Given the description of an element on the screen output the (x, y) to click on. 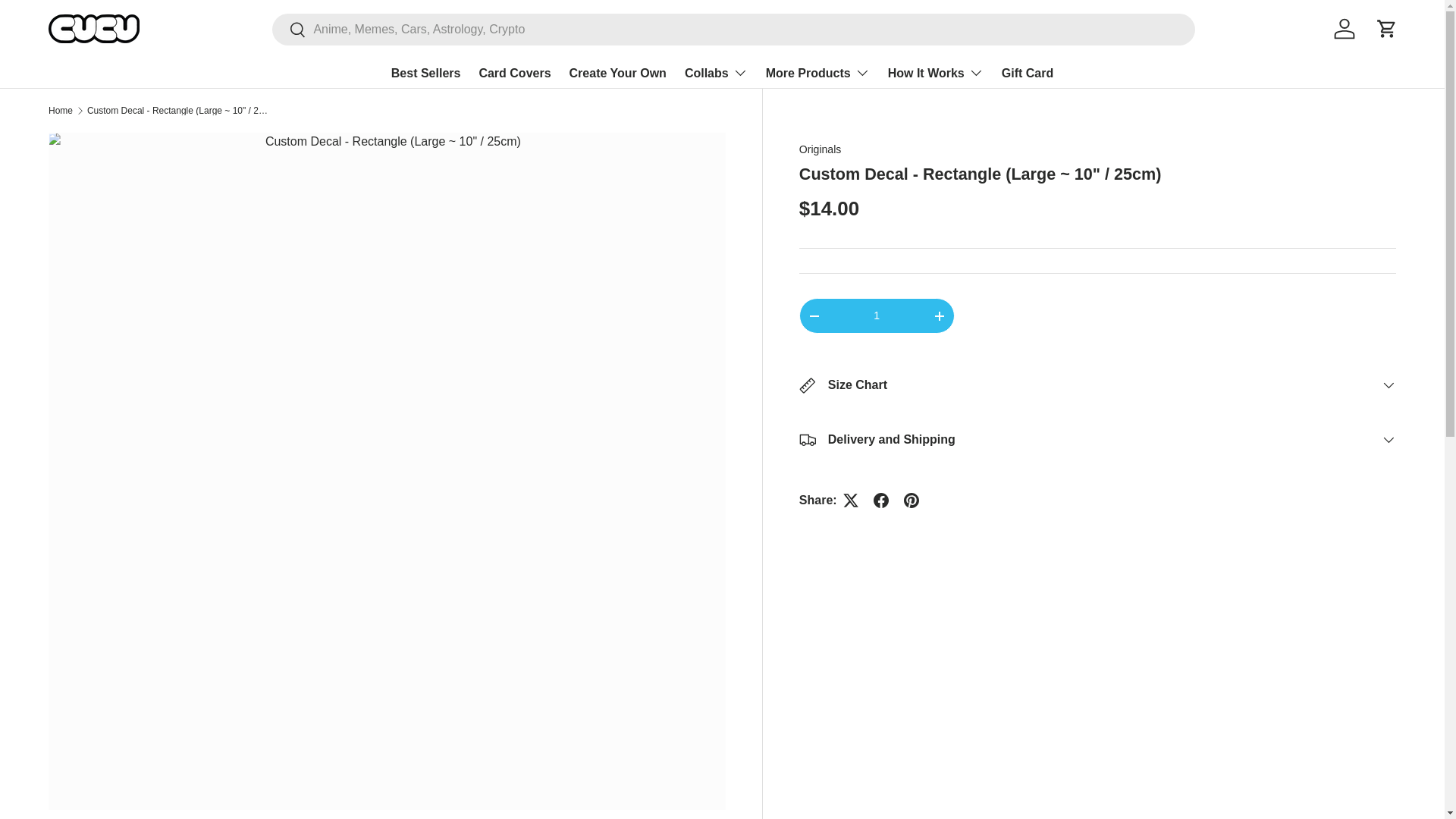
Collabs (716, 72)
1 (876, 315)
Skip to content (68, 21)
Log in (1344, 28)
Card Covers (514, 72)
Best Sellers (426, 72)
Create Your Own (617, 72)
Tweet on X (850, 500)
Search (288, 29)
More Products (817, 72)
Share on Facebook (881, 500)
Pin on Pinterest (911, 500)
Cart (1386, 28)
